Given the description of an element on the screen output the (x, y) to click on. 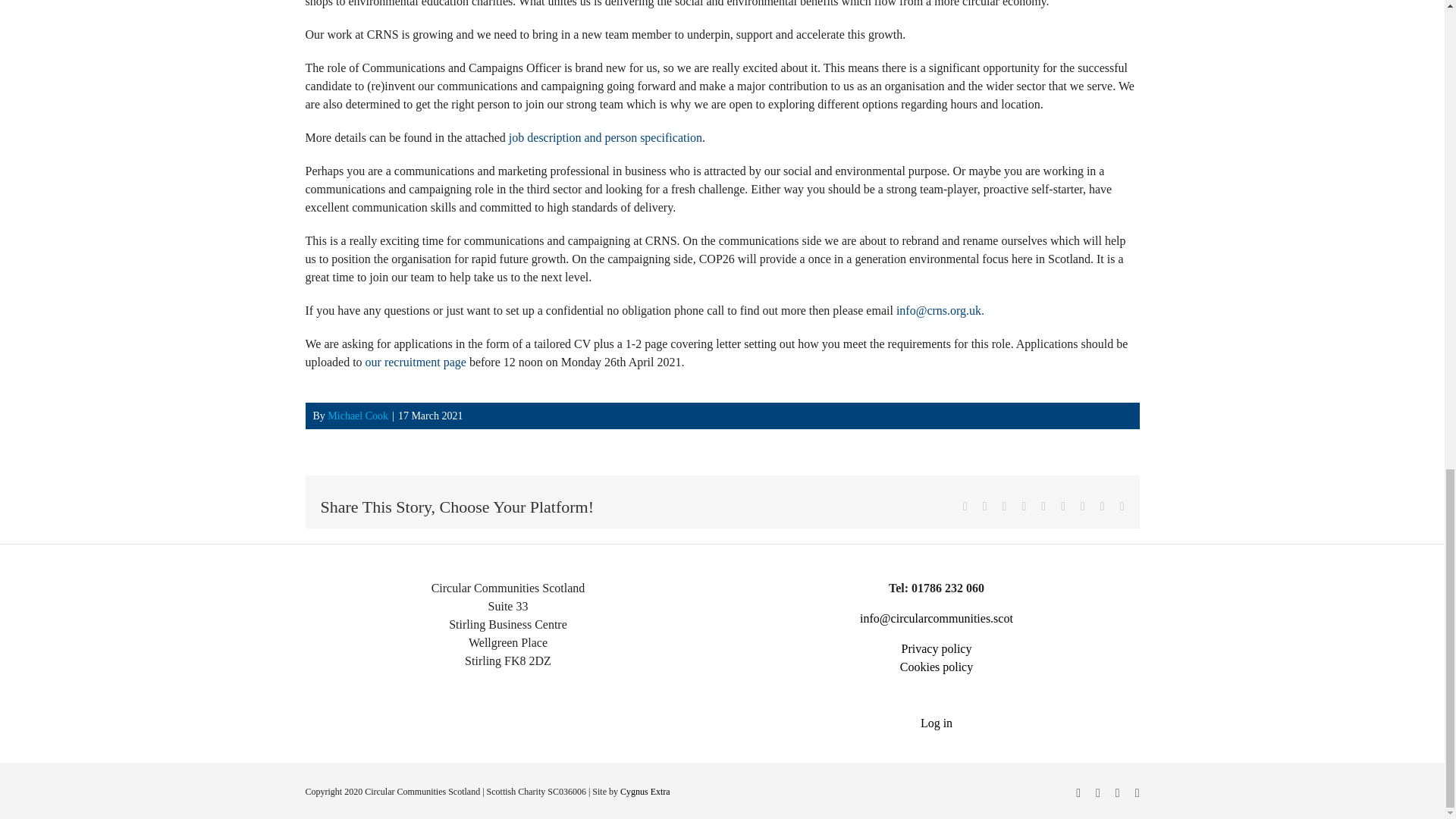
Posts by Michael Cook (357, 415)
Cookies policy (935, 666)
Privacy policy (936, 648)
our recruitment page (415, 361)
Log in (936, 723)
job description and person specification (604, 137)
Michael Cook (357, 415)
Cygnus Extra (644, 791)
